Given the description of an element on the screen output the (x, y) to click on. 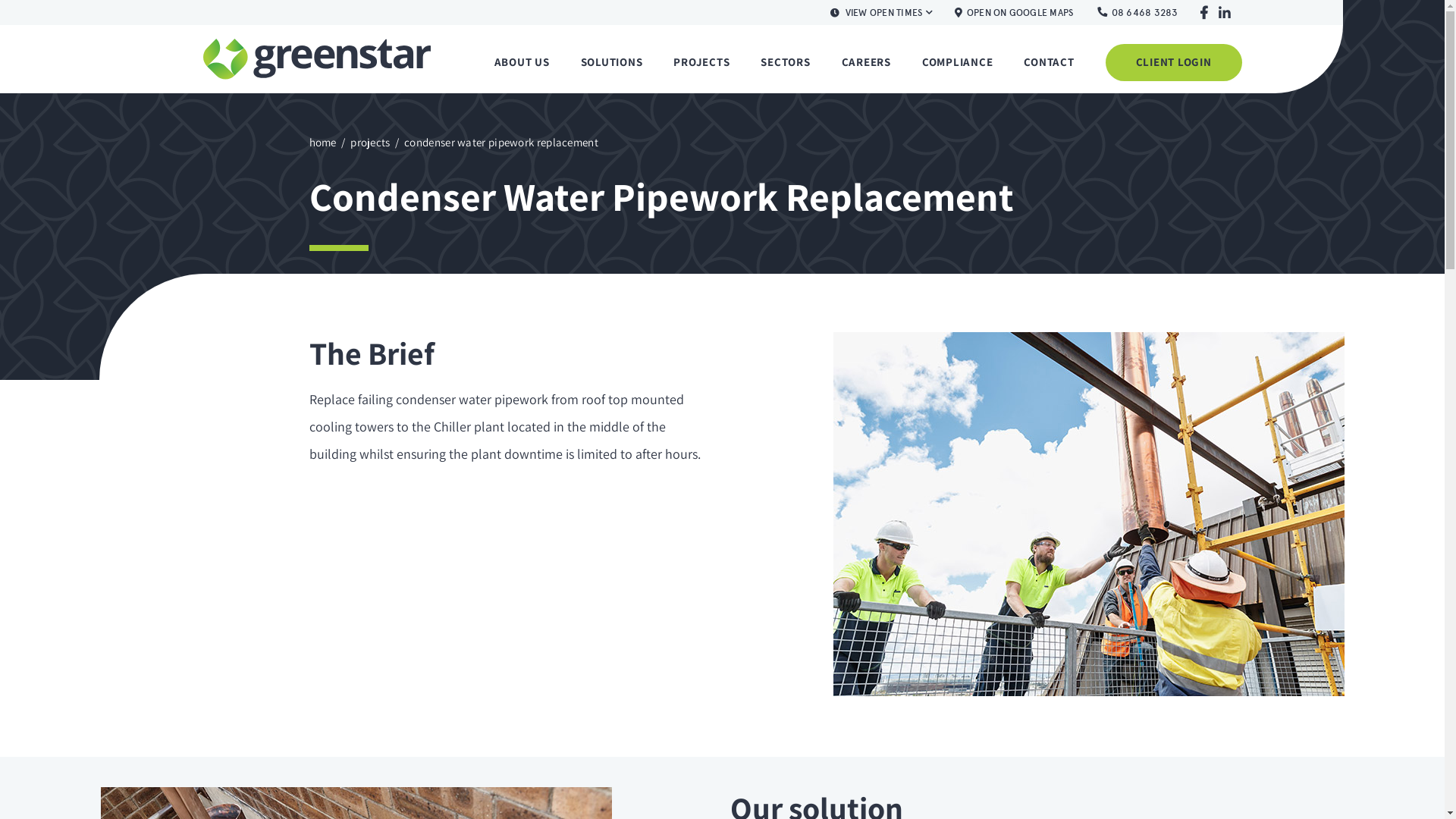
CLIENT LOGIN Element type: text (1173, 62)
Facebook Element type: text (1203, 13)
08 6468 3283 Element type: text (1136, 12)
LinkedIn Element type: text (1223, 13)
SOLUTIONS Element type: text (611, 61)
SECTORS Element type: text (784, 61)
OPEN ON GOOGLE MAPS Element type: text (1013, 12)
projects Element type: text (369, 141)
CAREERS Element type: text (866, 61)
ABOUT US Element type: text (521, 61)
PROJECTS Element type: text (701, 61)
home Element type: text (322, 141)
CONTACT Element type: text (1048, 61)
COMPLIANCE Element type: text (957, 61)
